Given the description of an element on the screen output the (x, y) to click on. 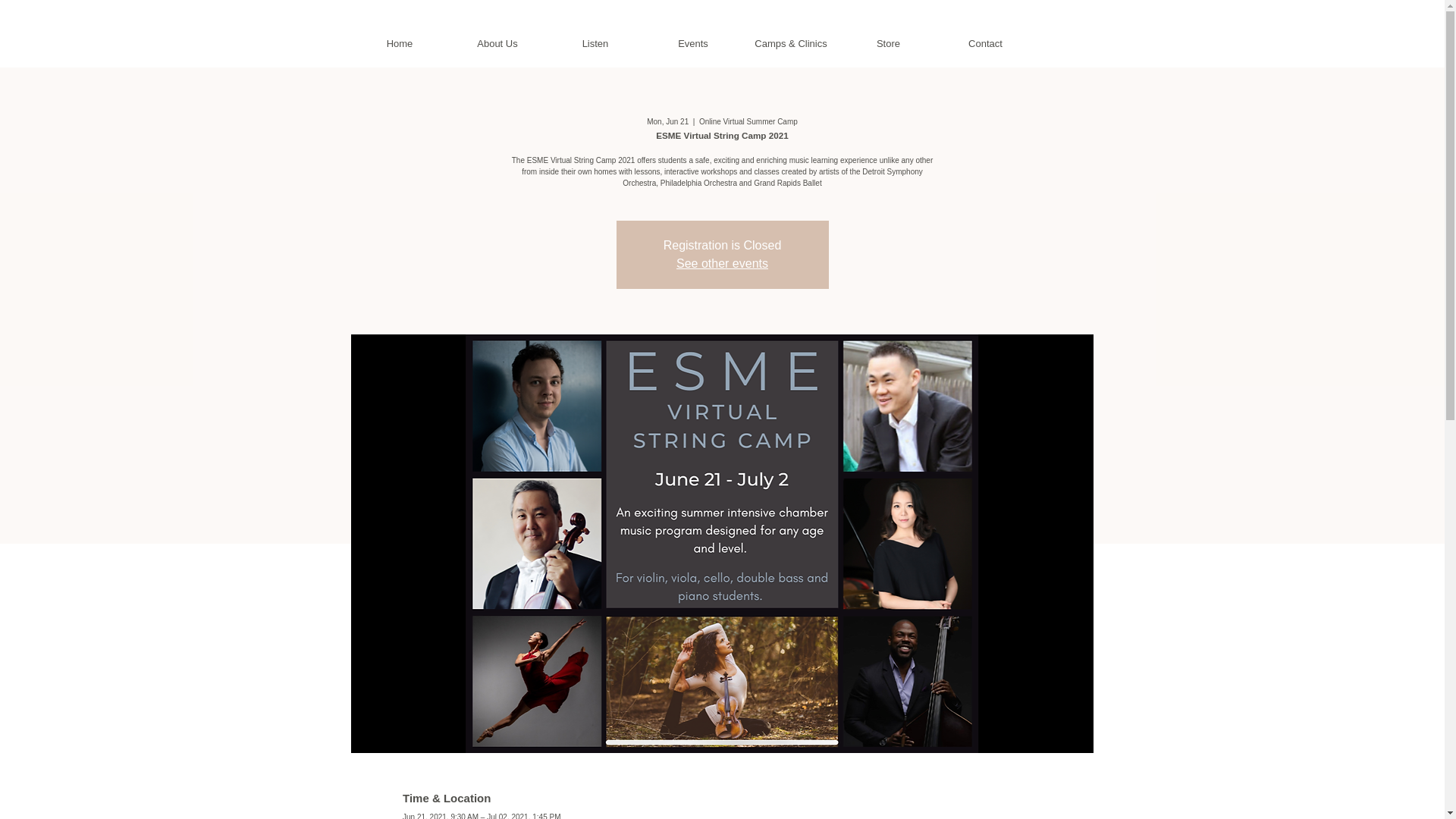
Events (693, 43)
Store (888, 43)
About Us (497, 43)
Home (399, 43)
See other events (722, 263)
Contact (985, 43)
Listen (594, 43)
